Given the description of an element on the screen output the (x, y) to click on. 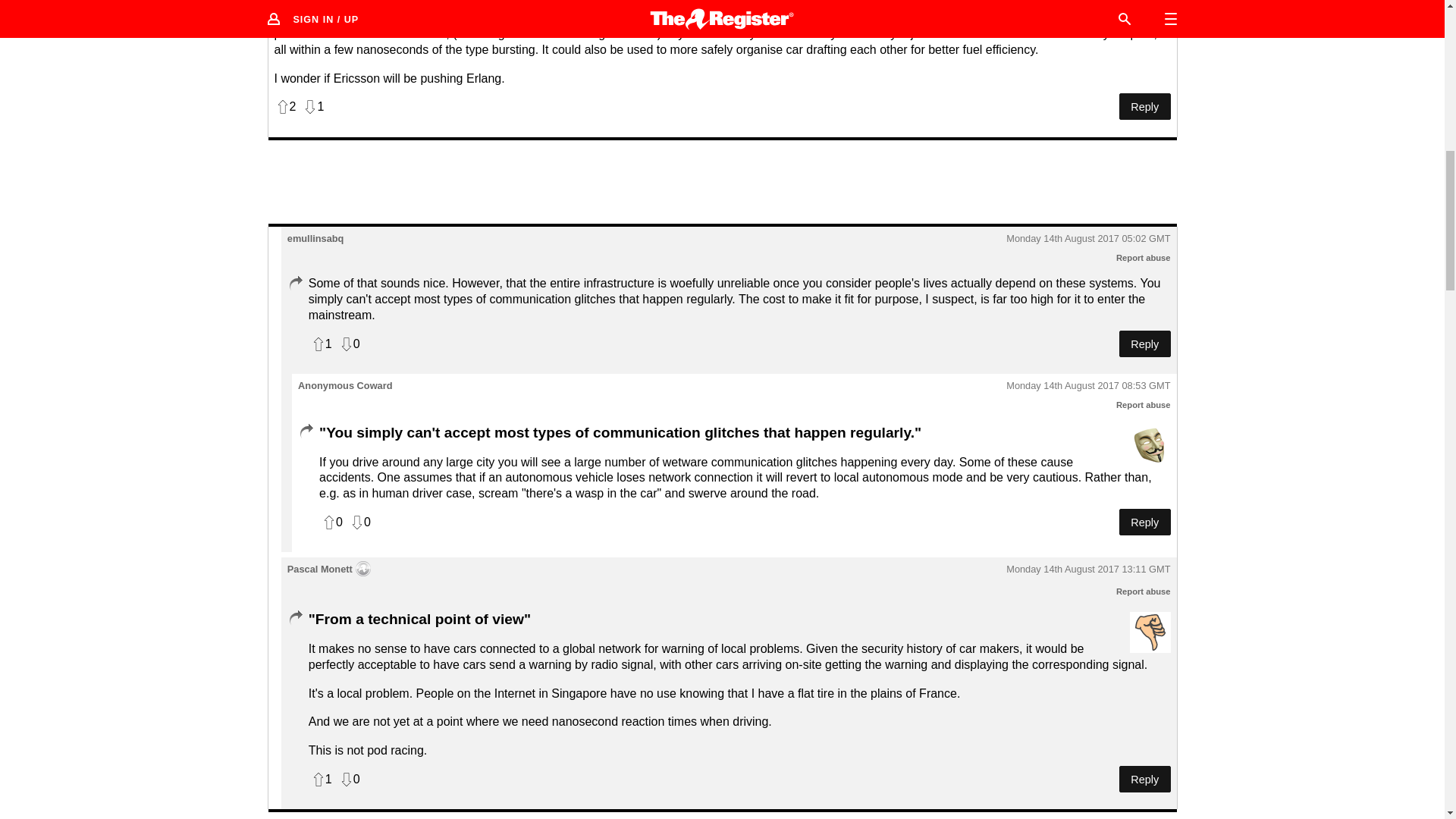
Report abuse (1143, 404)
Report abuse (1143, 257)
Report abuse (1143, 591)
